Given the description of an element on the screen output the (x, y) to click on. 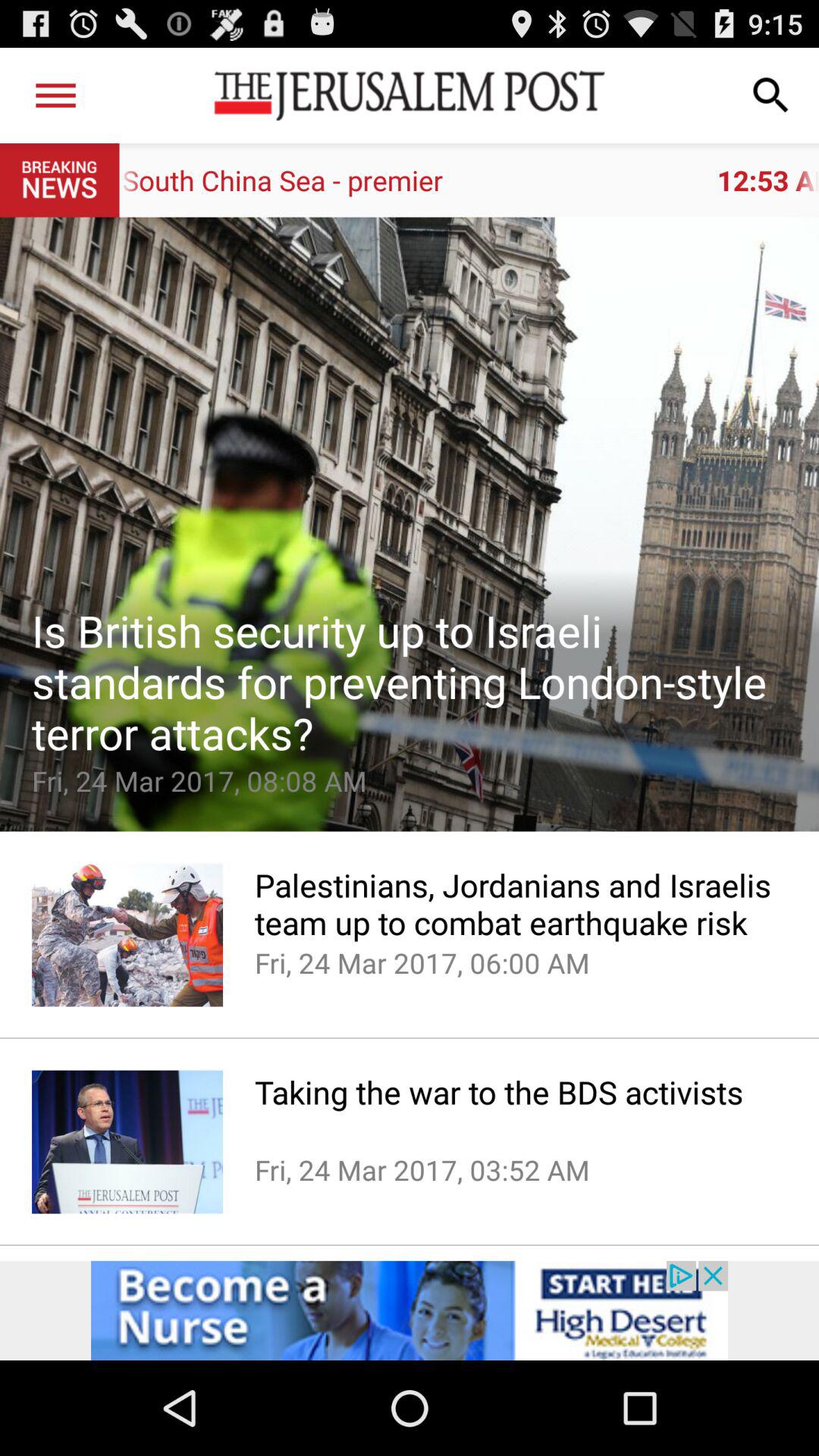
go to nurse (409, 1310)
